Given the description of an element on the screen output the (x, y) to click on. 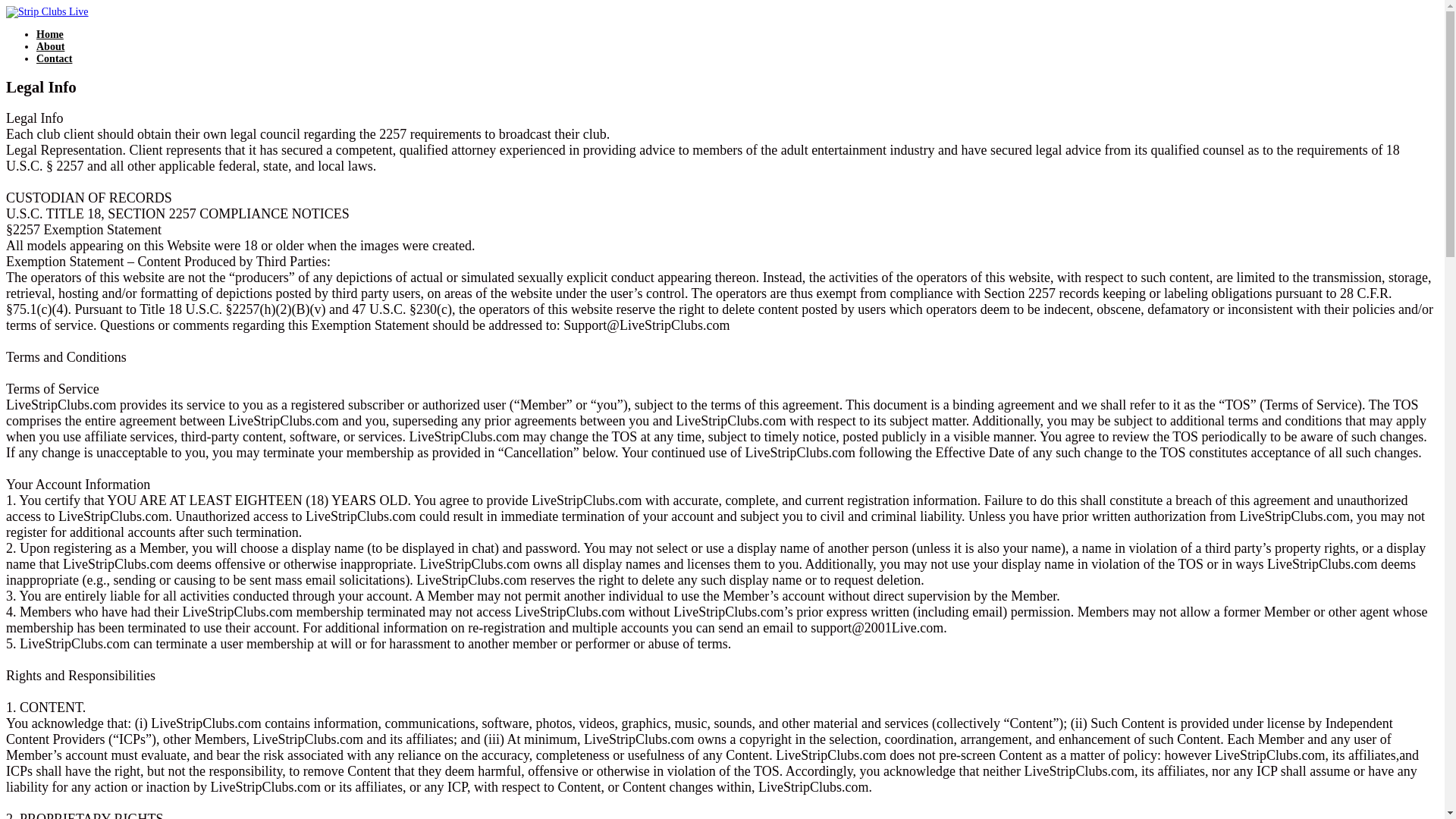
About (50, 46)
Home (50, 34)
Contact (53, 58)
